Given the description of an element on the screen output the (x, y) to click on. 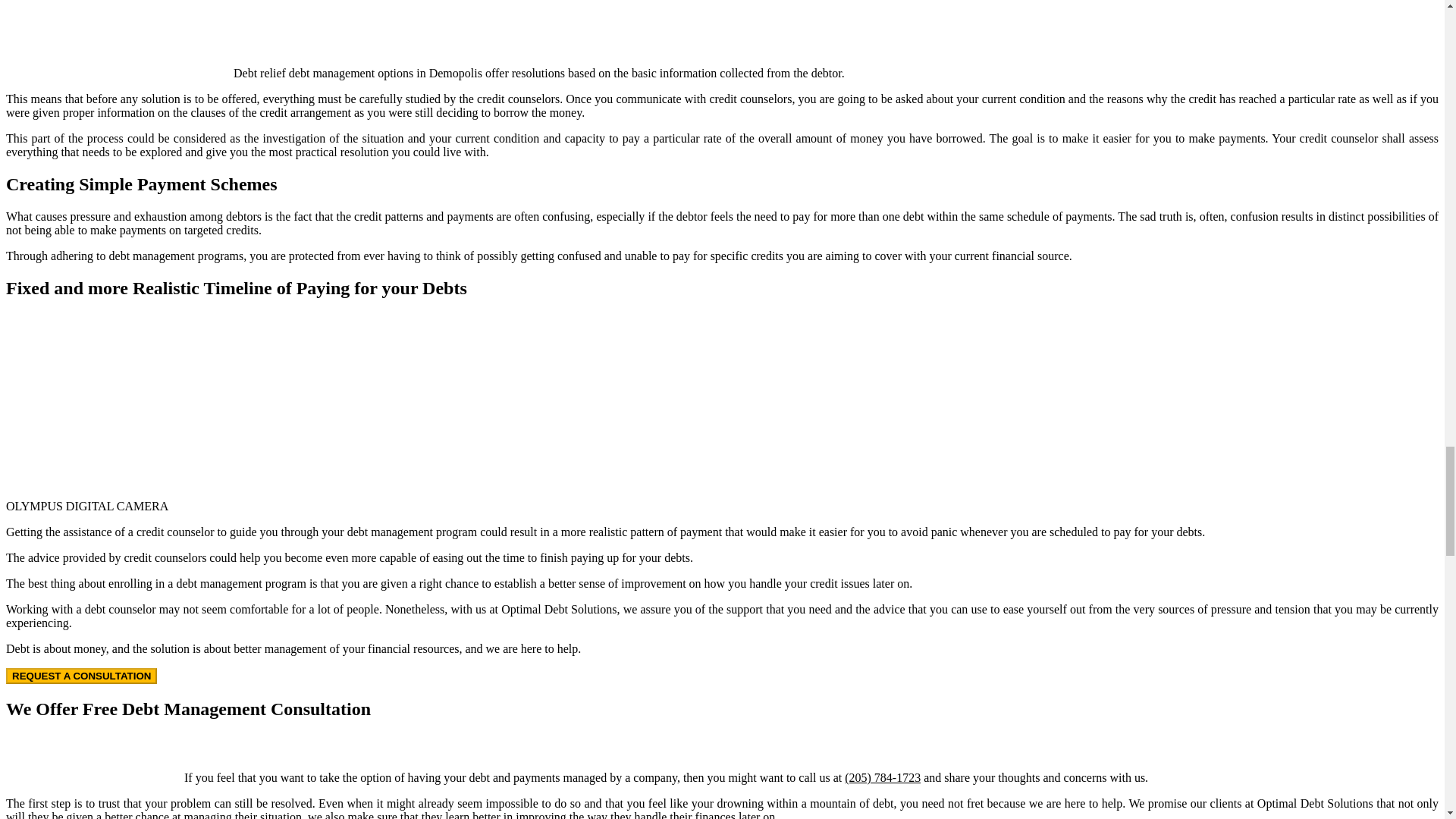
REQUEST A CONSULTATION (81, 675)
